Given the description of an element on the screen output the (x, y) to click on. 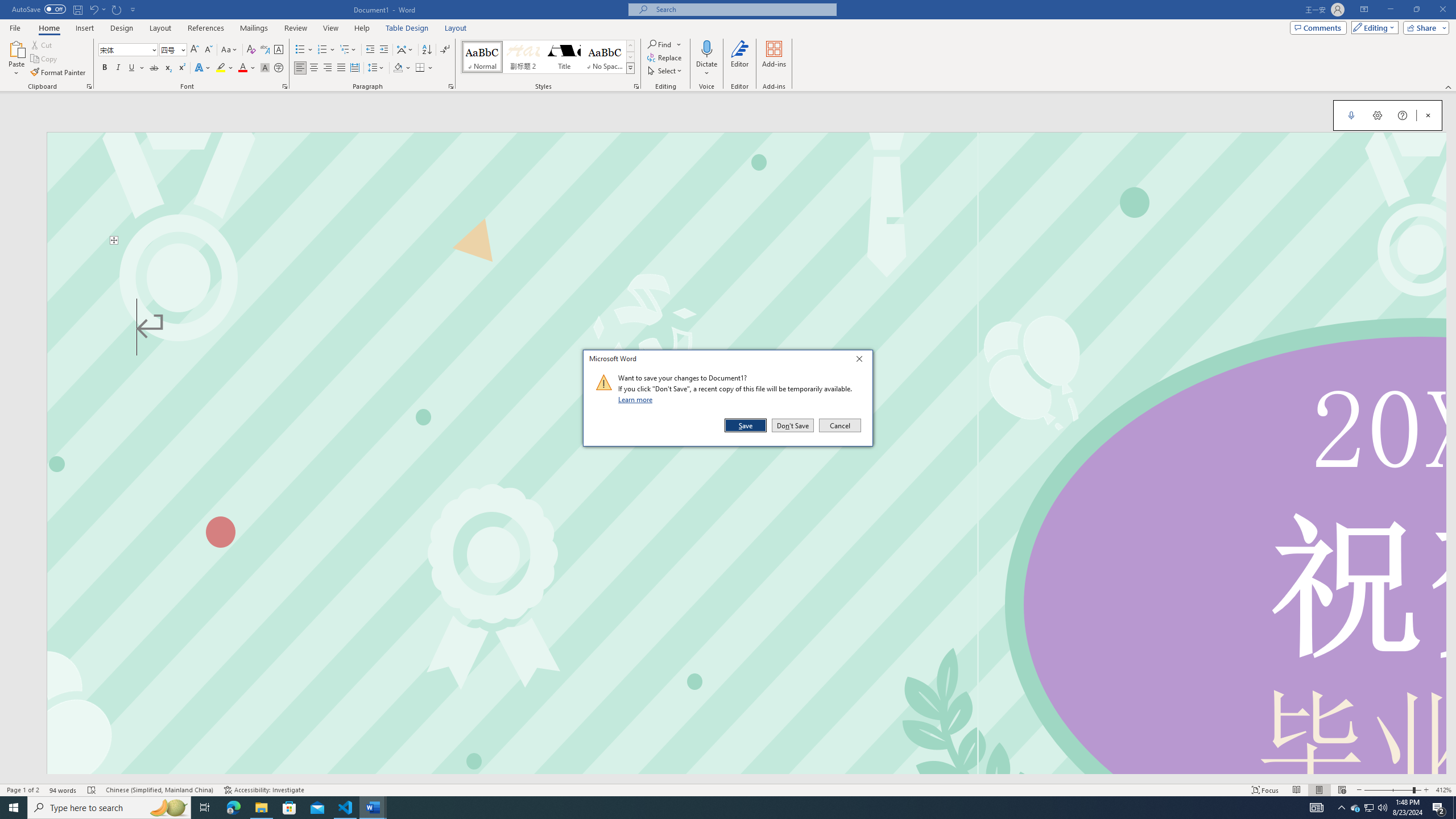
Dictation Settings (1377, 115)
AutomationID: QuickStylesGallery (548, 56)
Title (564, 56)
Word Count 94 words (63, 790)
AutomationID: 4105 (1316, 807)
Replace... (665, 56)
